Given the description of an element on the screen output the (x, y) to click on. 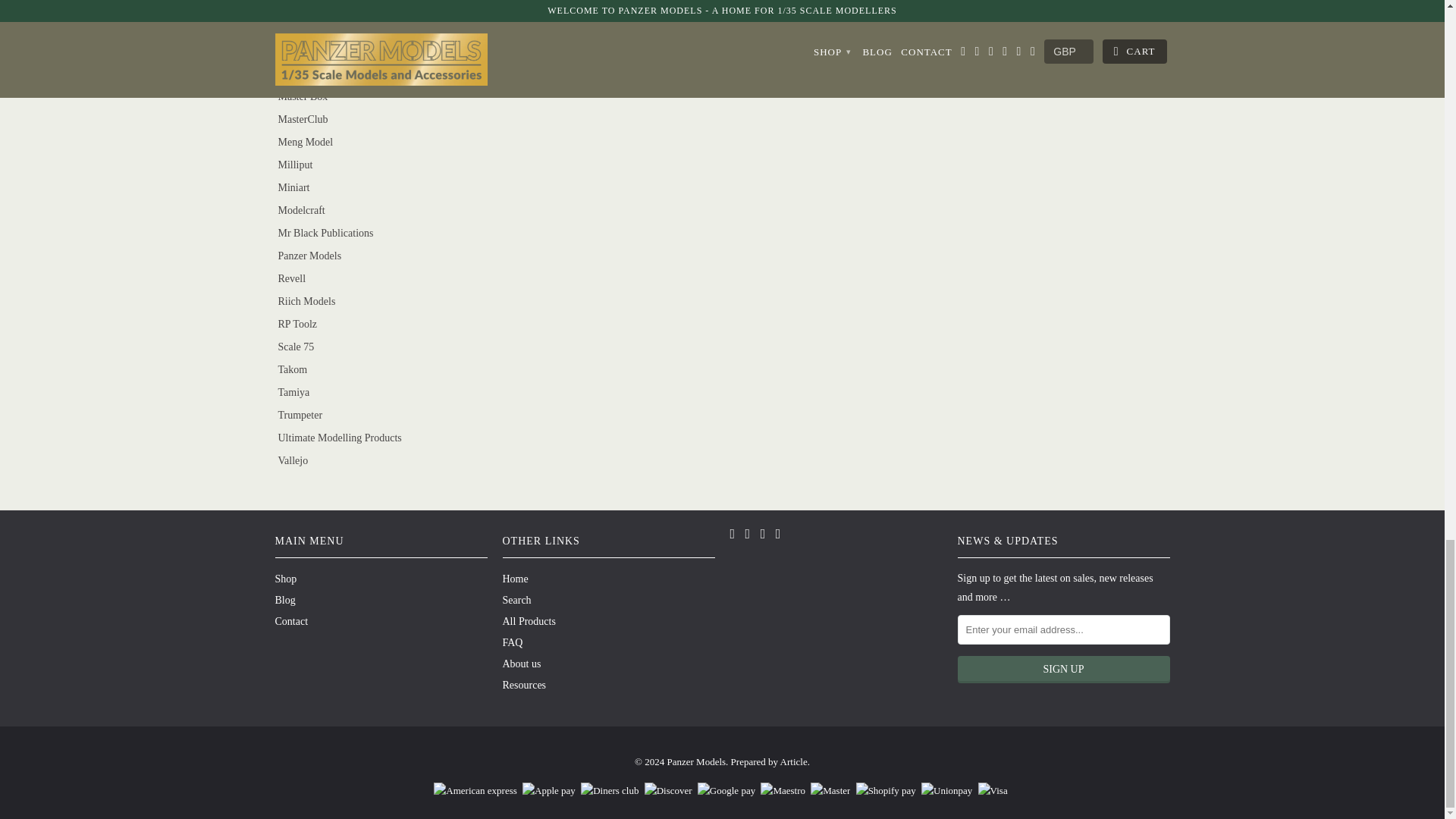
Sign Up (1062, 669)
